Given the description of an element on the screen output the (x, y) to click on. 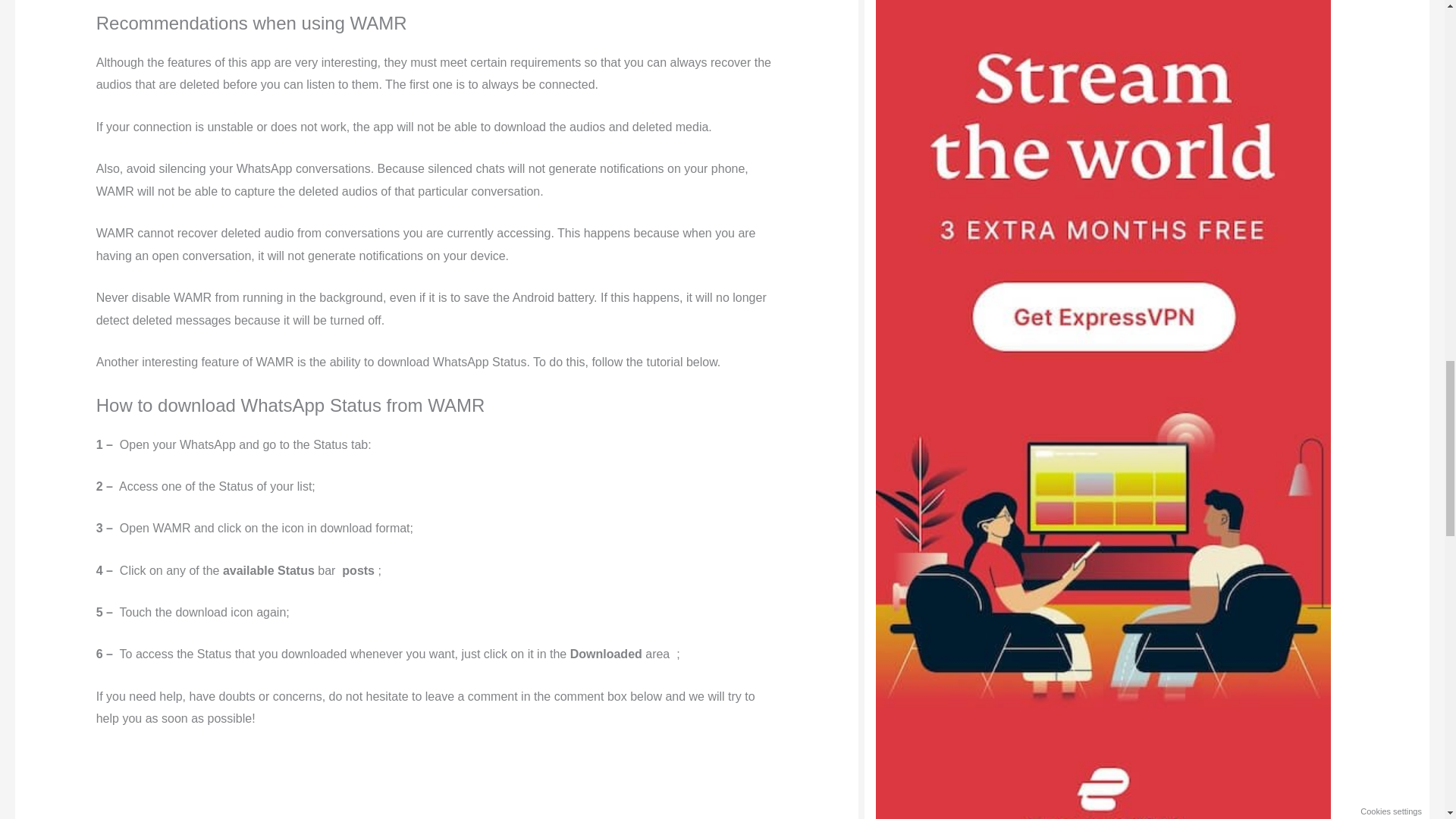
Advertisement (436, 784)
